Given the description of an element on the screen output the (x, y) to click on. 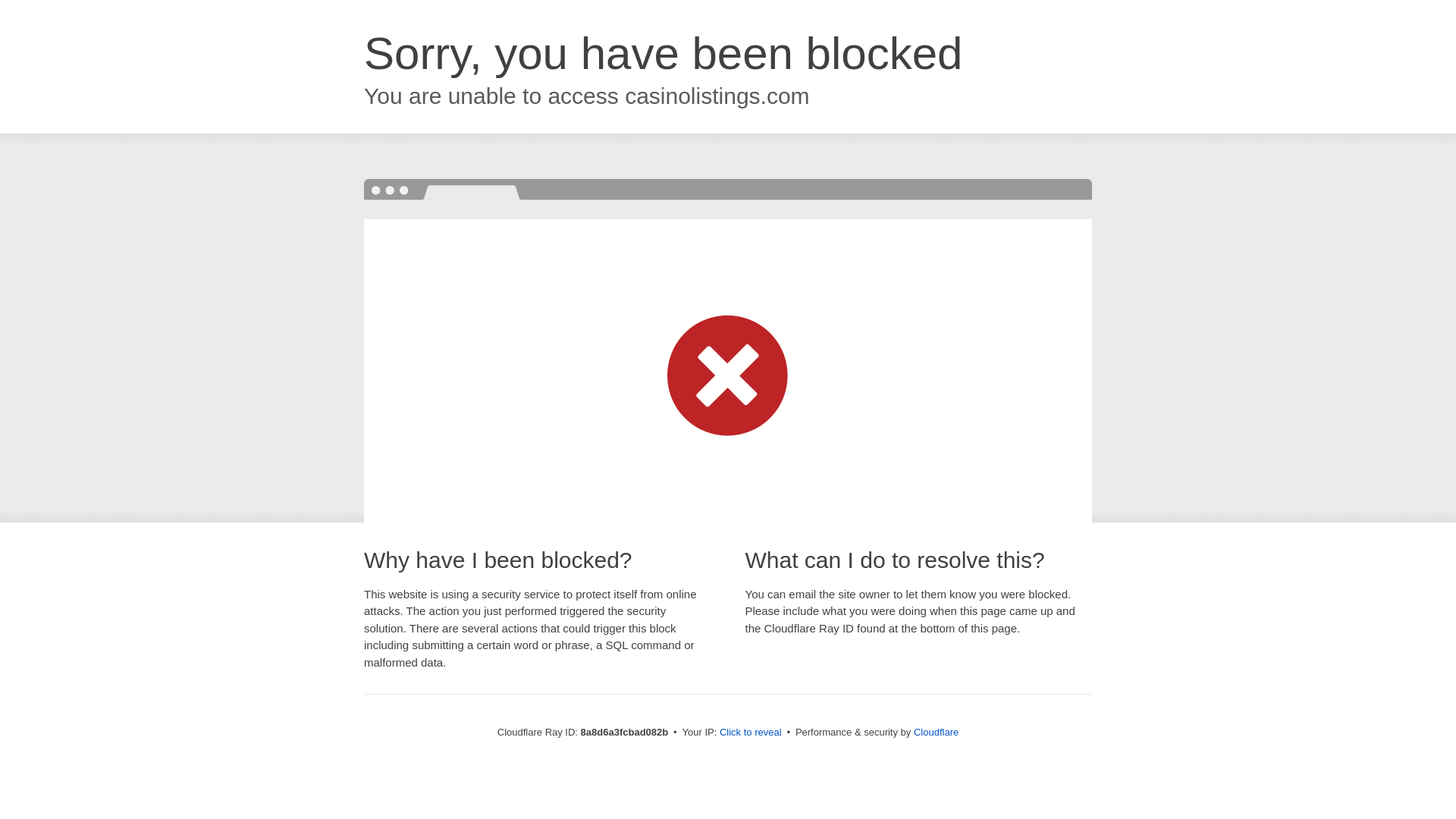
Cloudflare (936, 731)
Click to reveal (750, 732)
